Given the description of an element on the screen output the (x, y) to click on. 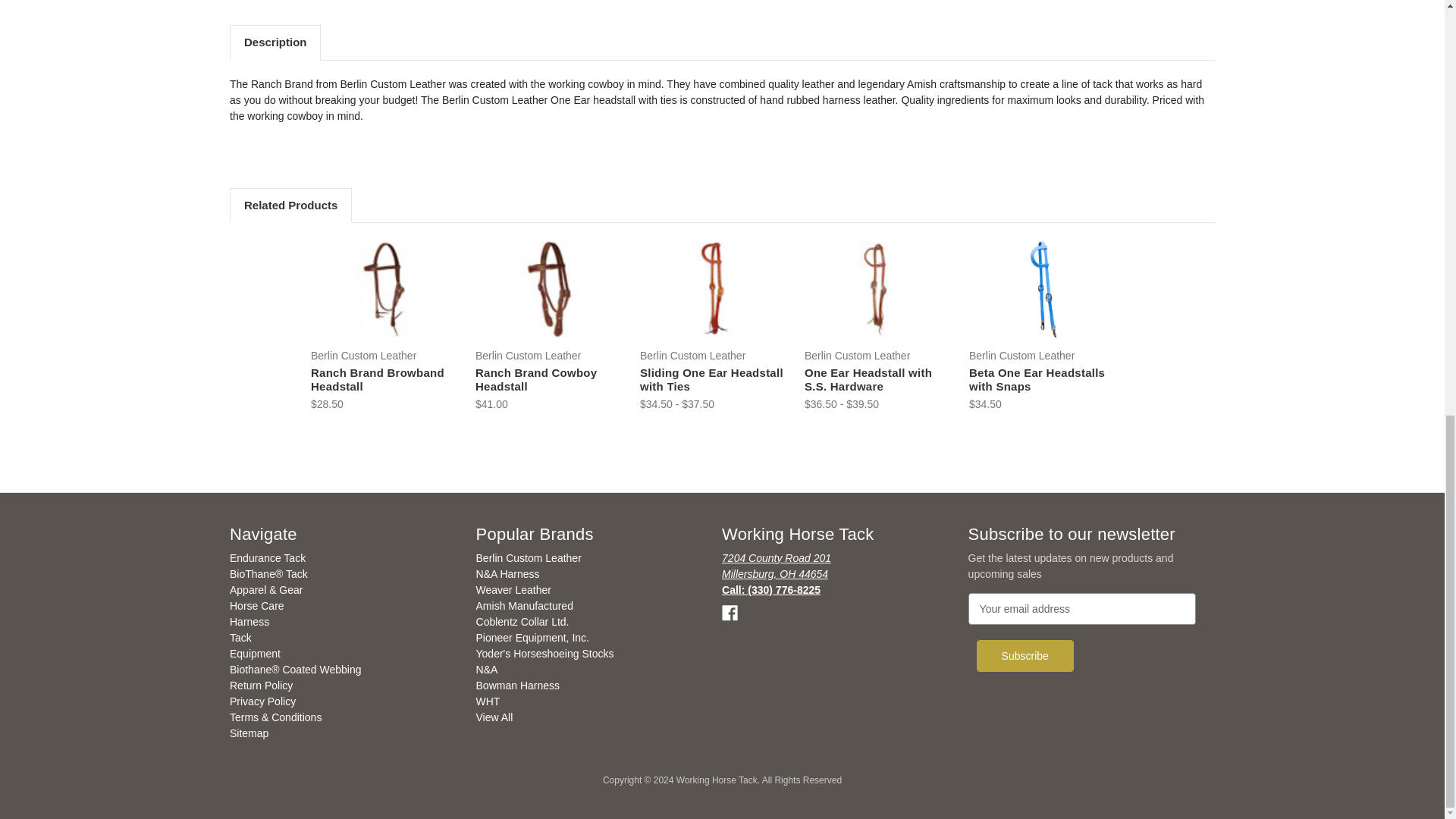
Sliding One Ear Headstall with Ties (714, 288)
Ranch Brand Cowboy Headstall (549, 288)
Beta One Ear Headstalls with Snaps (1043, 288)
One Ear Headstall with S.S. Hardware (878, 288)
Subscribe (1025, 655)
Ranch Brand Browband Headstall (385, 288)
